Given the description of an element on the screen output the (x, y) to click on. 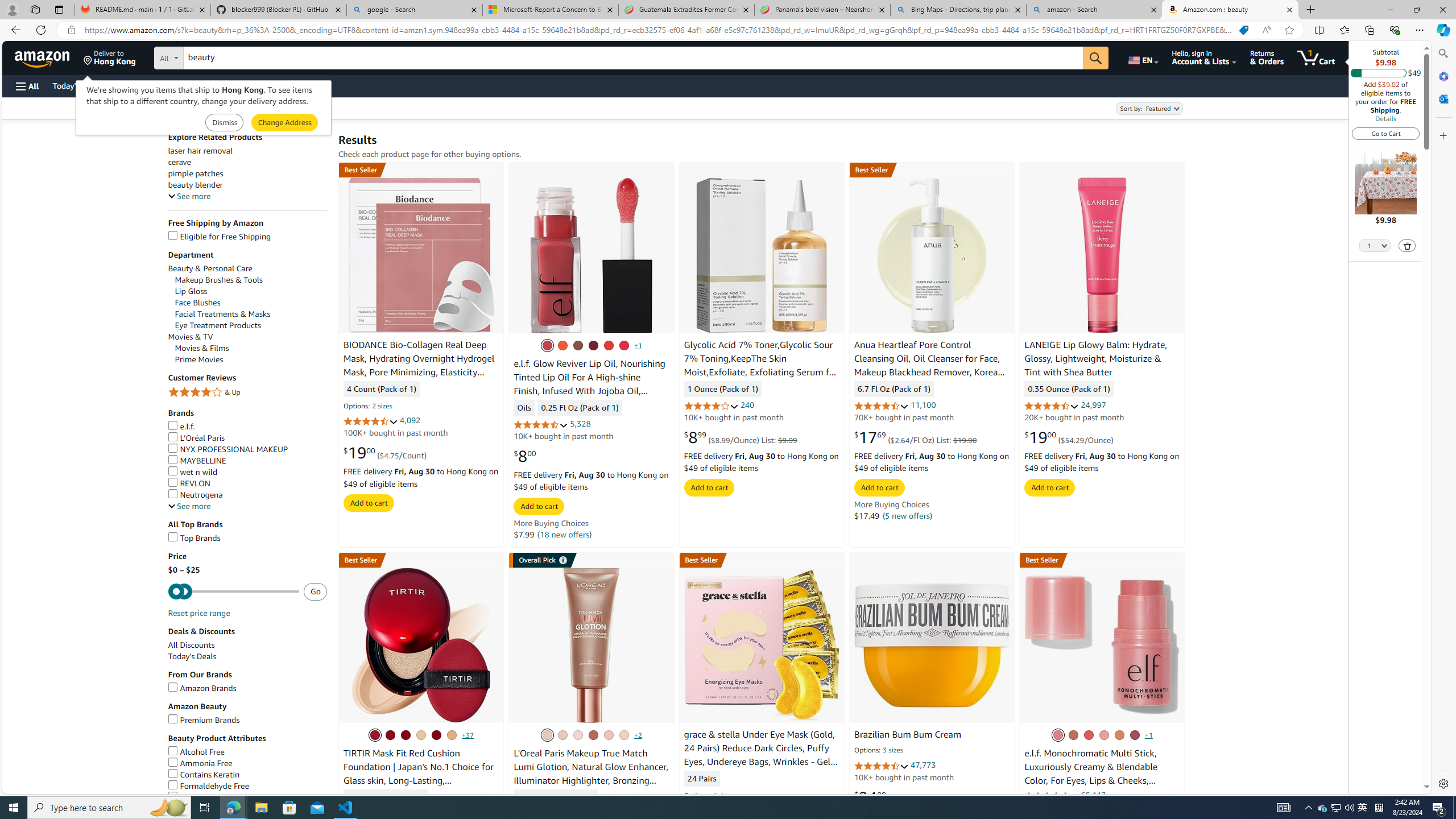
Movies & TV (247, 336)
Skip to main search results (50, 788)
47,773 (923, 764)
Face Blushes (197, 302)
$17.69 ( $2.64 /Fl Oz) List: $19.90 (914, 437)
4 Stars & Up (247, 392)
Lip Gloss (250, 291)
